Given the description of an element on the screen output the (x, y) to click on. 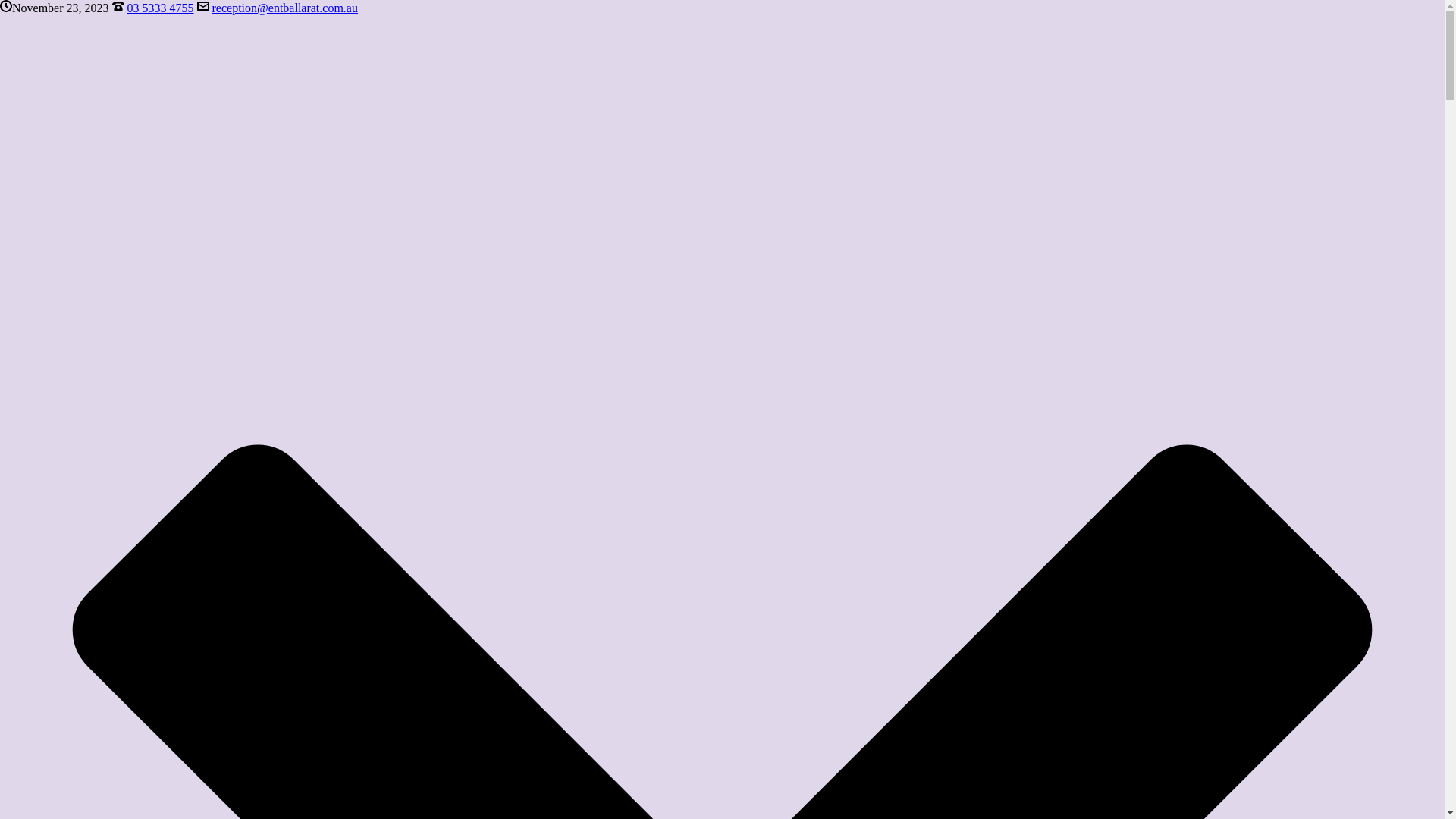
reception@entballarat.com.au Element type: text (284, 7)
03 5333 4755 Element type: text (160, 7)
